Given the description of an element on the screen output the (x, y) to click on. 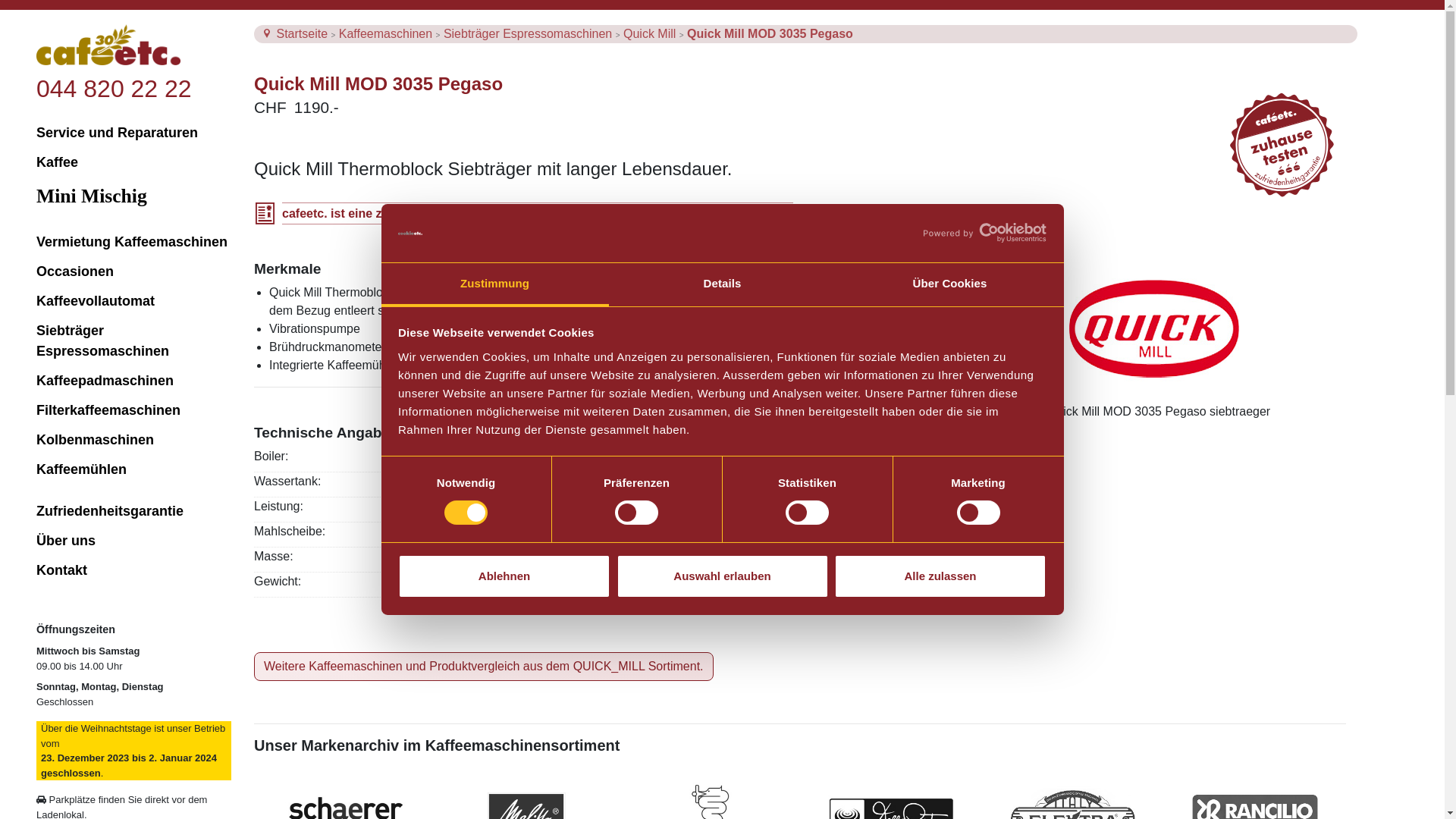
044 820 22 22 Element type: text (113, 88)
Kontakt Element type: text (133, 570)
Auswahl erlauben Element type: text (721, 576)
Filterkaffeemaschinen Element type: text (133, 410)
Kaffeevollautomat Element type: text (133, 301)
Vermietung Kaffeemaschinen Element type: text (133, 242)
Next Element type: text (1298, 411)
Kaffee Element type: text (133, 162)
Kolbenmaschinen Element type: text (133, 440)
Details Element type: text (721, 284)
Quick Mill Element type: text (651, 33)
Startseite Element type: text (303, 33)
Ablehnen Element type: text (504, 576)
Kaffeemaschinen Element type: text (387, 33)
Alle zulassen Element type: text (940, 576)
Kaffeepadmaschinen Element type: text (133, 380)
Zufriedenheitsgarantie Element type: text (133, 511)
Zustimmung Element type: text (494, 284)
Occasionen Element type: text (133, 271)
Previous Element type: text (1007, 411)
Service und Reparaturen Element type: text (133, 132)
Quick Mill MOD 3035 Pegaso Element type: text (770, 33)
Mini Mischig Element type: text (133, 196)
